Given the description of an element on the screen output the (x, y) to click on. 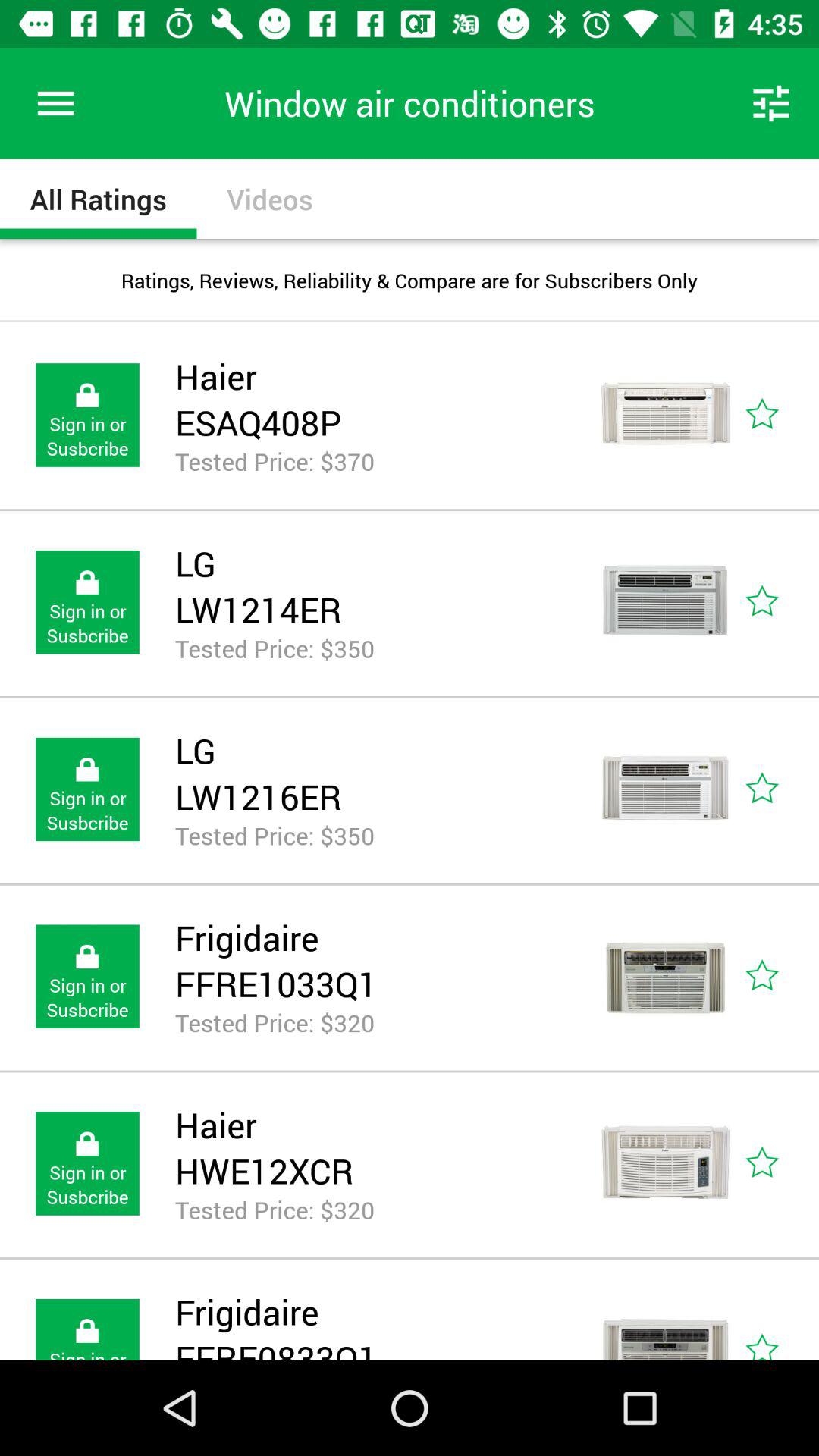
favorite option (779, 1318)
